Given the description of an element on the screen output the (x, y) to click on. 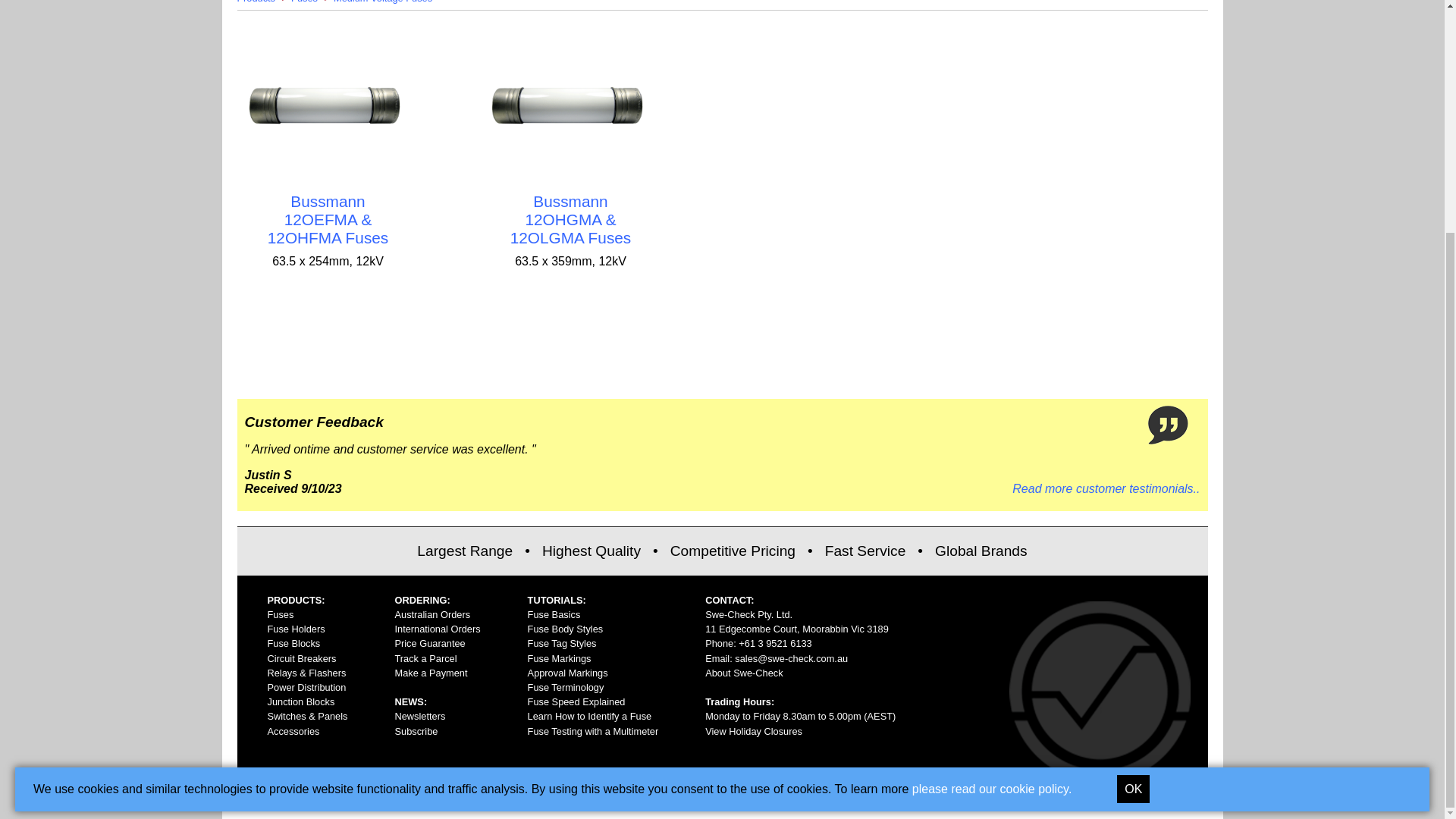
Click to View Products (571, 219)
Click to View Products (571, 104)
Click to View Products (327, 219)
Click to View Products (327, 104)
